Given the description of an element on the screen output the (x, y) to click on. 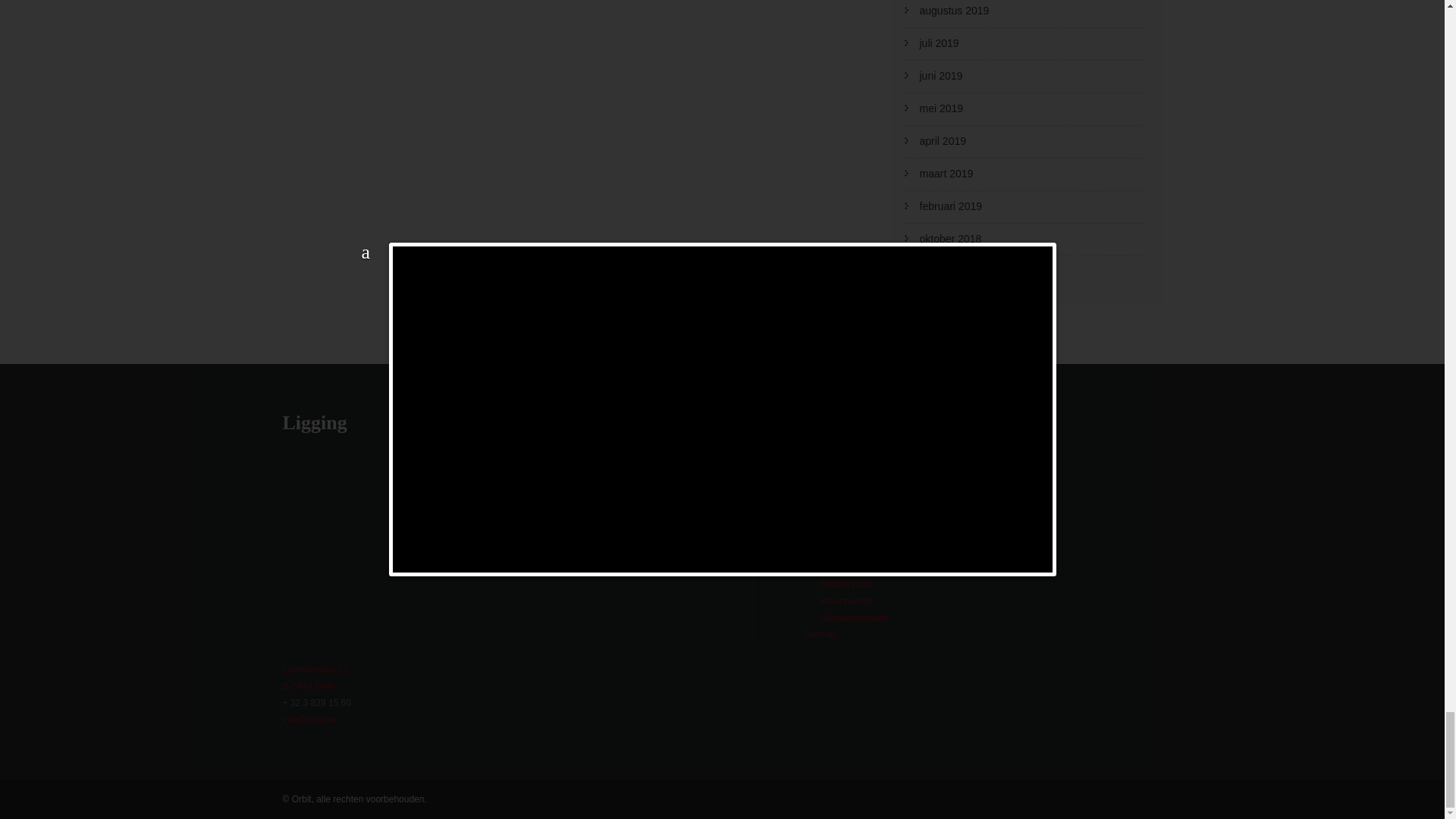
Google map insluitingen (508, 548)
